Given the description of an element on the screen output the (x, y) to click on. 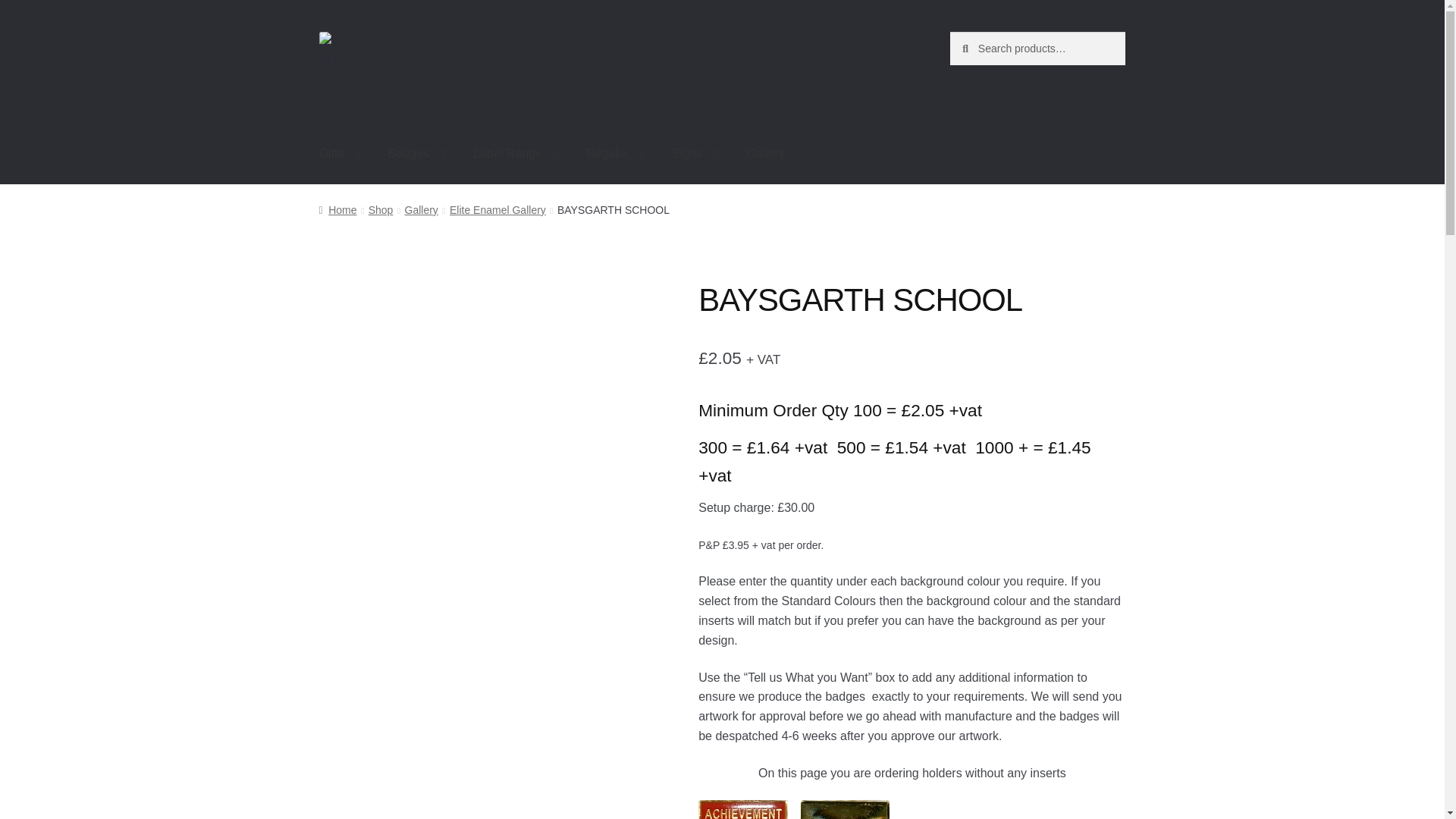
Gifts (339, 154)
Badges (416, 154)
